Given the description of an element on the screen output the (x, y) to click on. 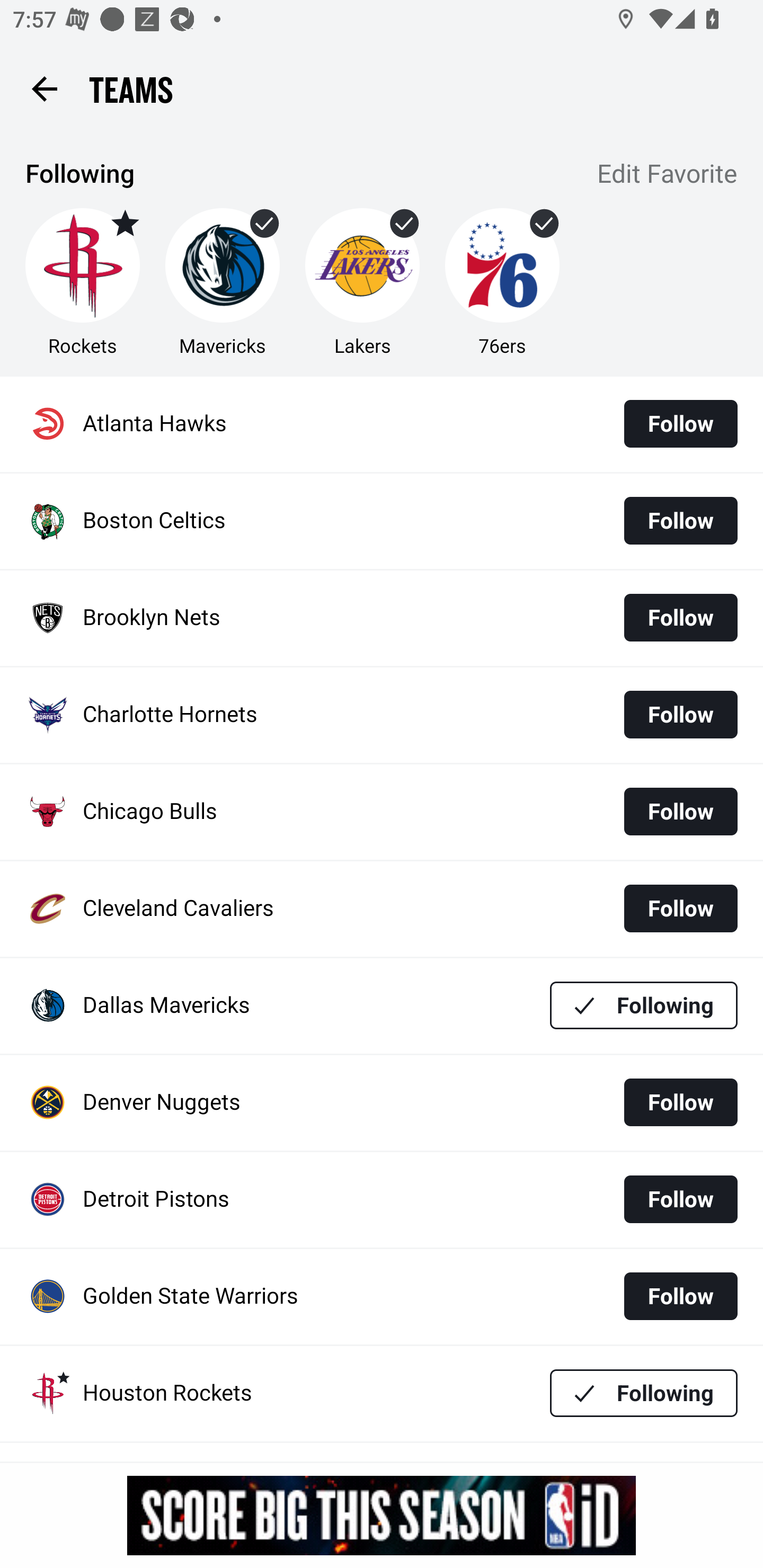
Back button (44, 88)
Edit Favorite (667, 175)
Atlanta Hawks Follow (381, 423)
Follow (680, 423)
Boston Celtics Follow (381, 521)
Follow (680, 520)
Brooklyn Nets Follow (381, 618)
Follow (680, 617)
Charlotte Hornets Follow (381, 714)
Follow (680, 713)
Chicago Bulls Follow (381, 812)
Follow (680, 811)
Cleveland Cavaliers Follow (381, 908)
Follow (680, 908)
Dallas Mavericks Following (381, 1005)
Following (643, 1005)
Denver Nuggets Follow (381, 1102)
Follow (680, 1101)
Detroit Pistons Follow (381, 1200)
Follow (680, 1199)
Golden State Warriors Follow (381, 1296)
Follow (680, 1295)
Houston Rockets Following (381, 1392)
Following (643, 1392)
g5nqqygr7owph (381, 1515)
